Given the description of an element on the screen output the (x, y) to click on. 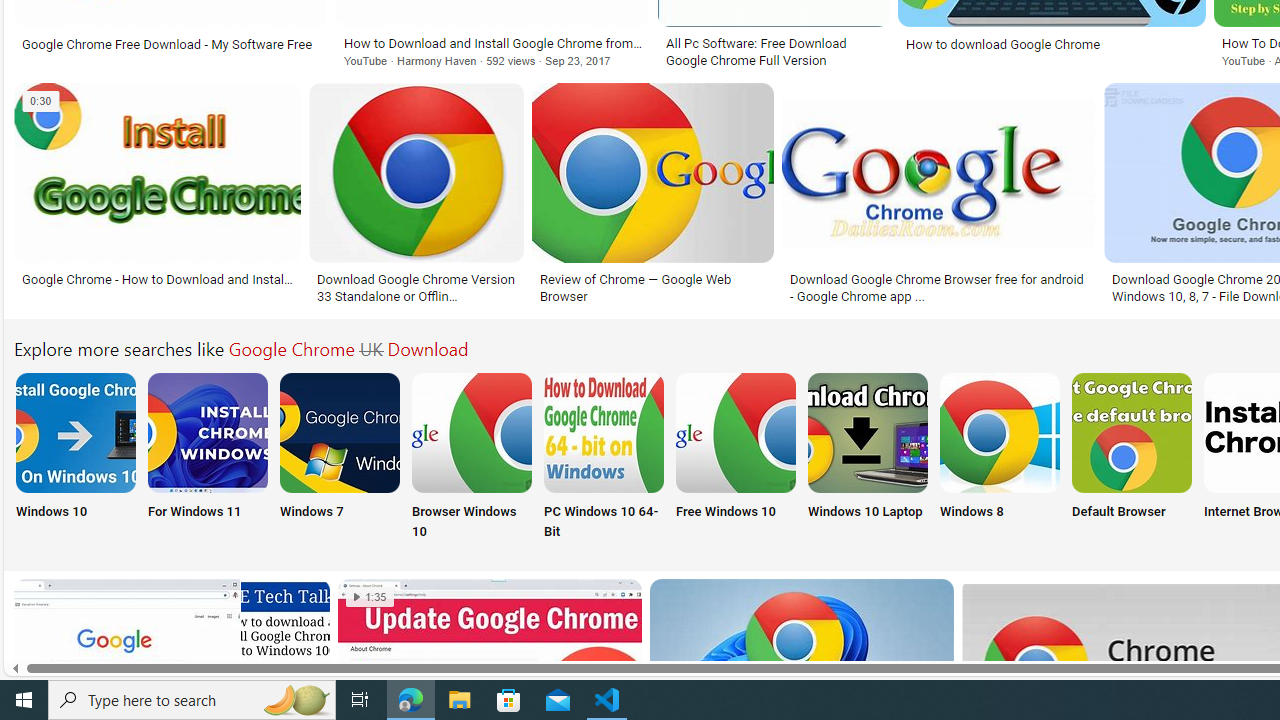
Windows 10 (74, 457)
Google Chrome Browser Windows 10 Download Browser Windows 10 (472, 458)
Google Chrome Download for Windows 11 (207, 432)
Google Chrome Download Windows 8 (999, 432)
Google Chrome Free Download - My Software Free (167, 44)
Google Chrome Download Free Windows 10 Free Windows 10 (735, 458)
Google Chrome Download for Windows 11 For Windows 11 (207, 458)
Image result for Google Chrome UK Download (285, 623)
All Pc Software: Free Download Google Chrome Full Version (773, 52)
Browser Windows 10 (472, 457)
